Given the description of an element on the screen output the (x, y) to click on. 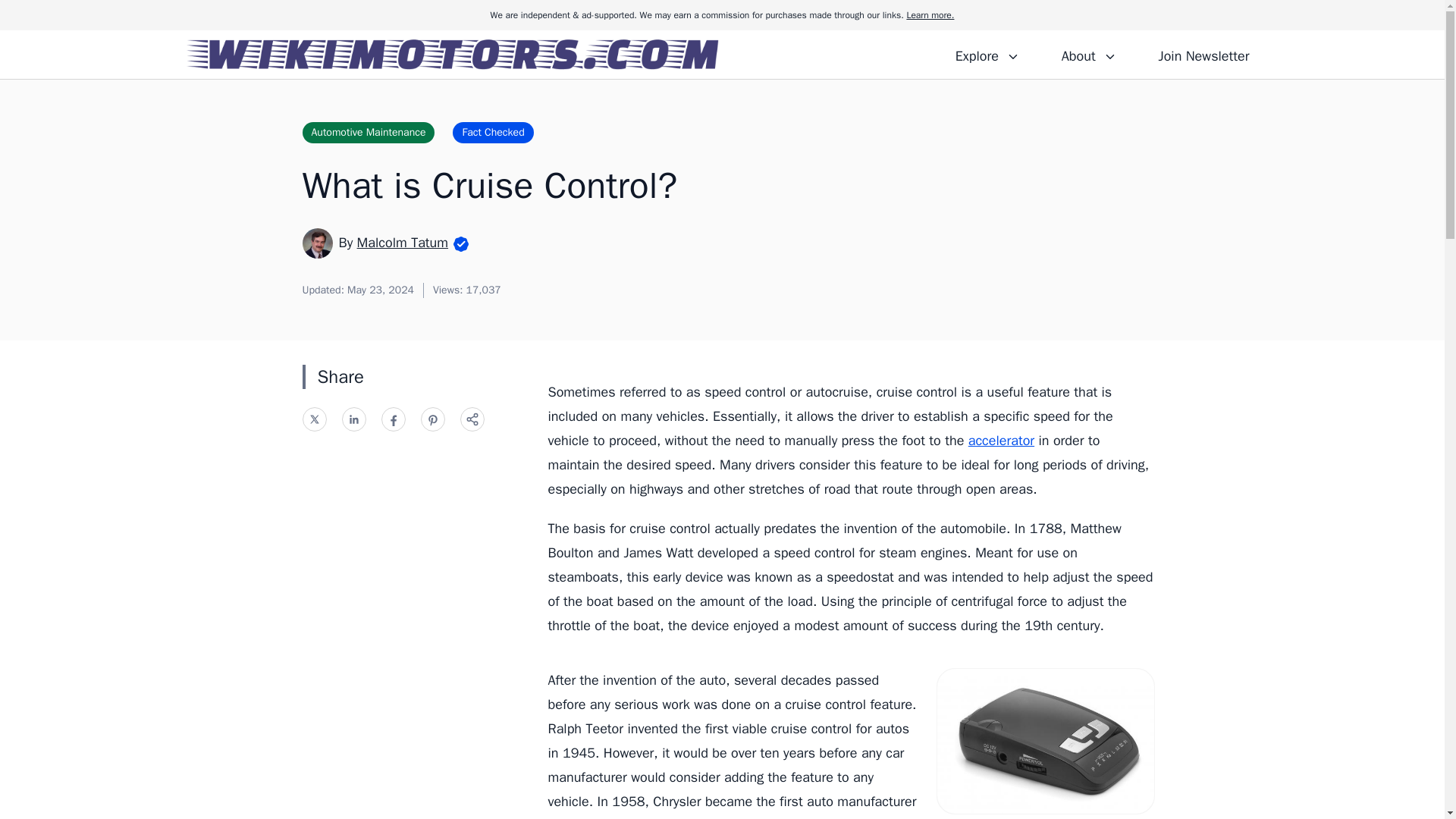
accelerator (1000, 440)
Explore (986, 54)
Fact Checked (492, 132)
Join Newsletter (1202, 54)
About (1088, 54)
Automotive Maintenance (367, 132)
Malcolm Tatum (402, 242)
Learn more. (929, 15)
